Given the description of an element on the screen output the (x, y) to click on. 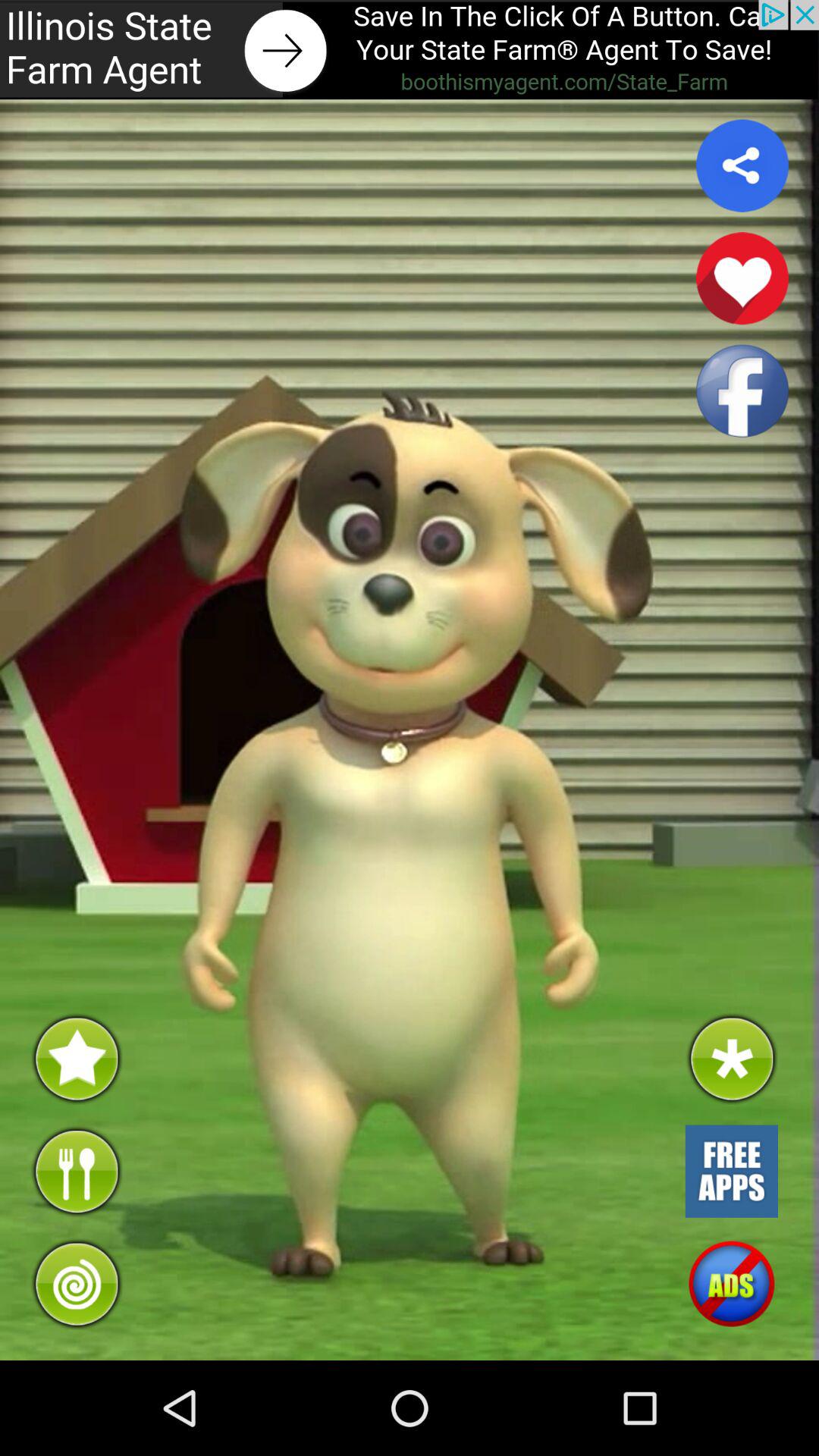
turn off advertisements (731, 1283)
